Given the description of an element on the screen output the (x, y) to click on. 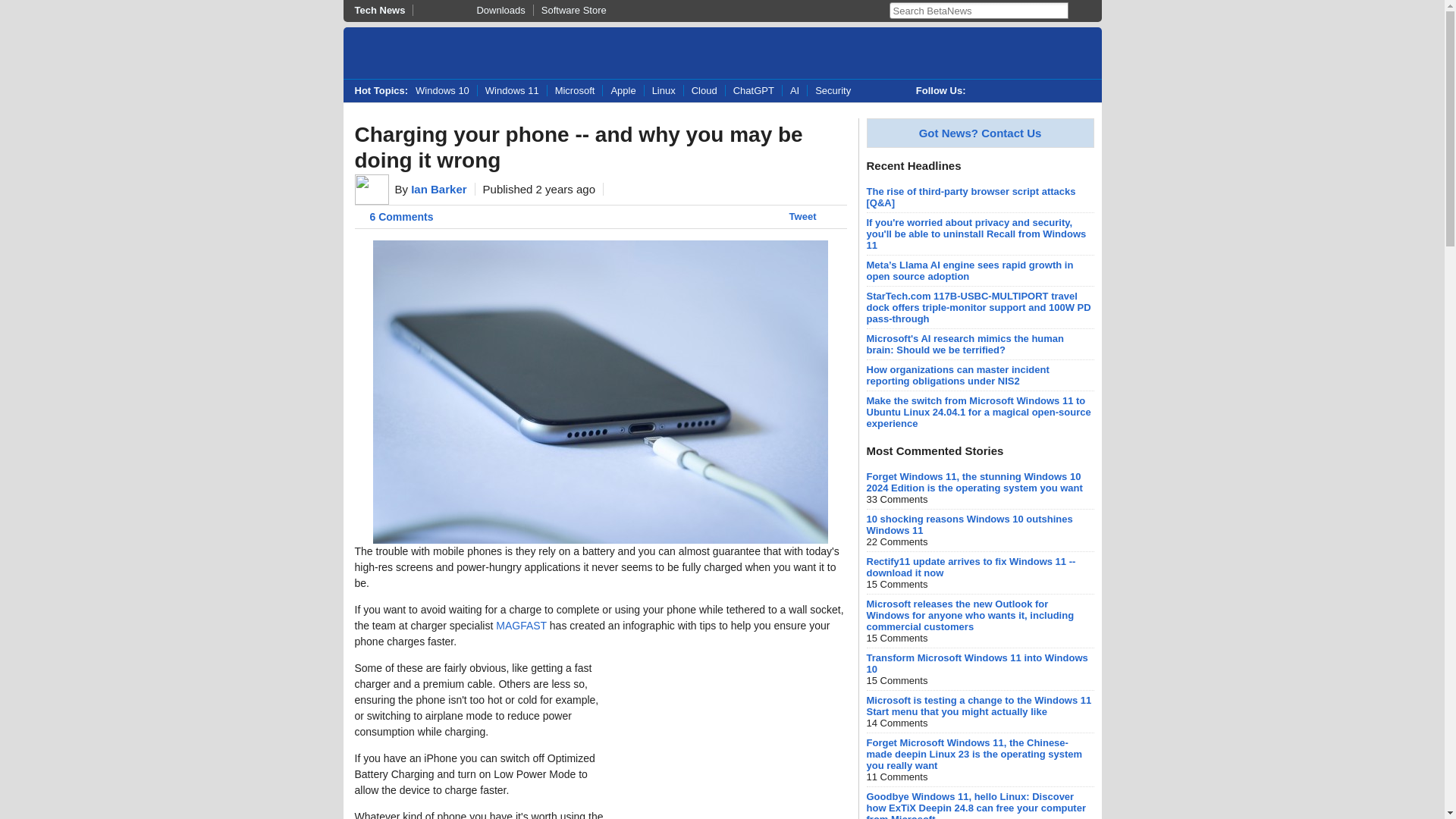
Transform Microsoft Windows 11 into Windows 10 (976, 662)
Security (832, 90)
BetaNews (417, 54)
10 shocking reasons Windows 10 outshines Windows 11 (968, 524)
Got News? Contact Us (980, 132)
Twitter (984, 91)
